Given the description of an element on the screen output the (x, y) to click on. 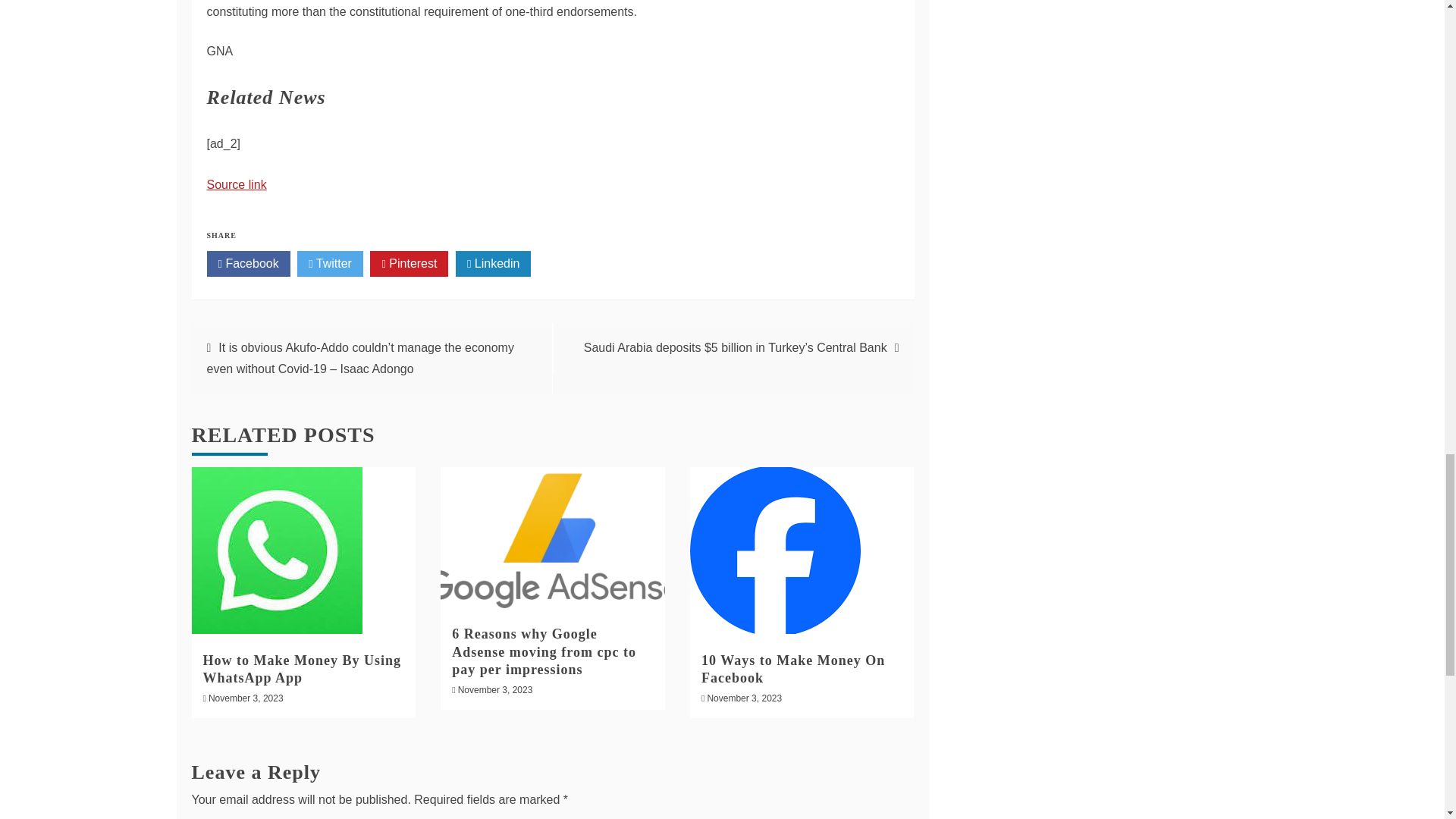
November 3, 2023 (743, 697)
Facebook (247, 263)
November 3, 2023 (495, 689)
Source link (236, 184)
November 3, 2023 (245, 697)
Pinterest (408, 263)
Linkedin (493, 263)
Twitter (329, 263)
10 Ways to Make Money On Facebook (793, 668)
